Given the description of an element on the screen output the (x, y) to click on. 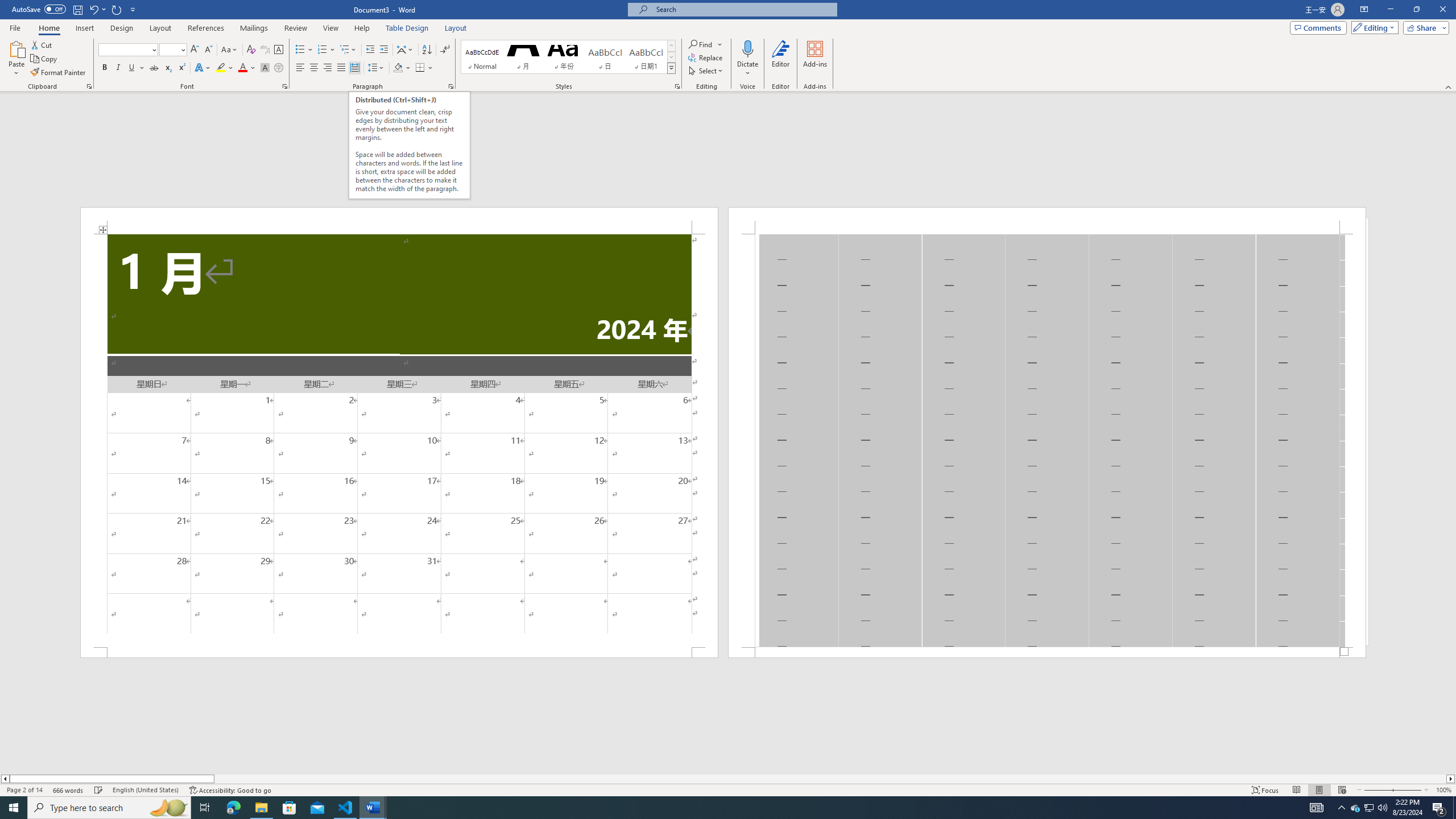
Microsoft search (742, 9)
Column right (1450, 778)
